Given the description of an element on the screen output the (x, y) to click on. 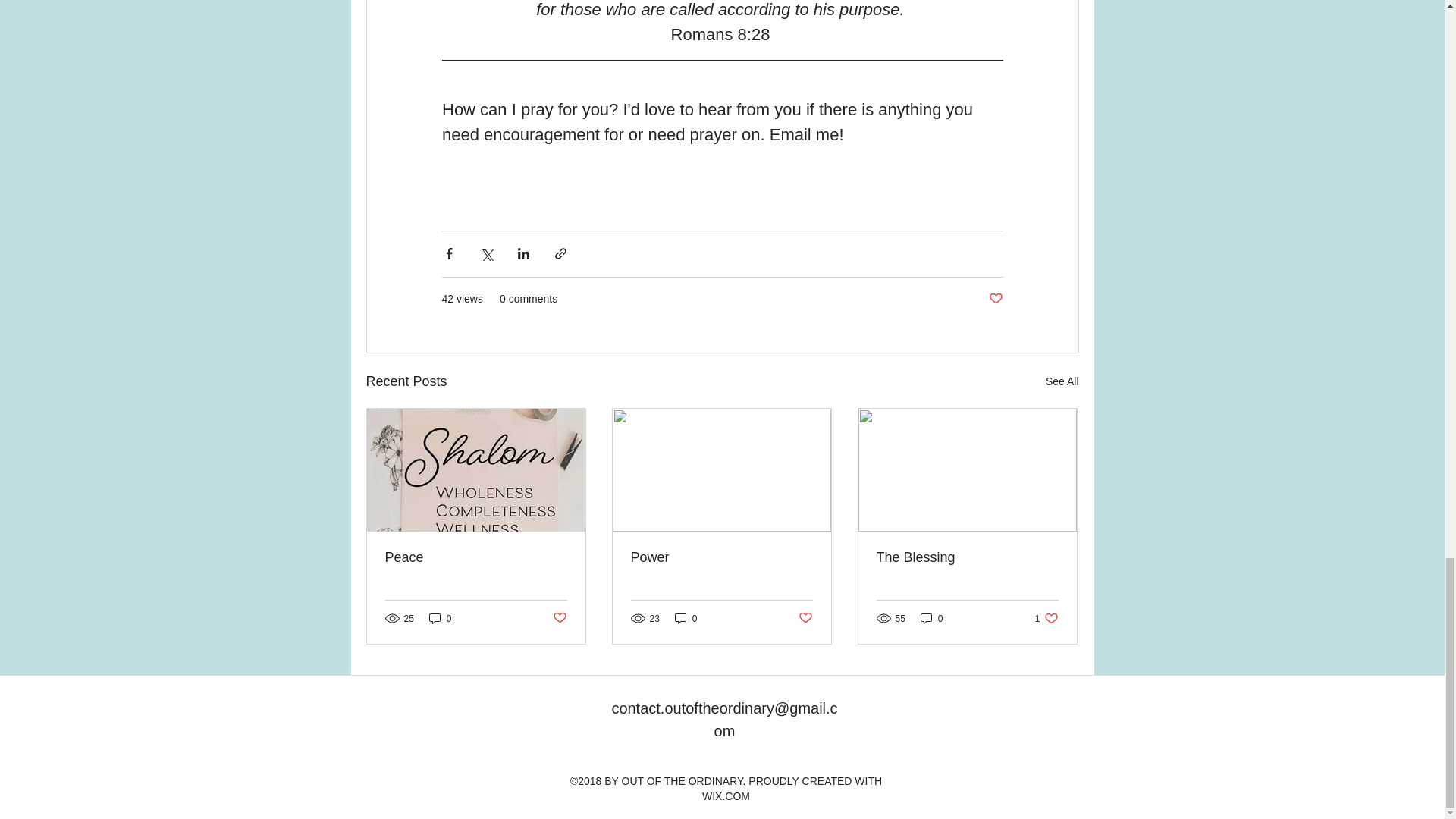
0 (931, 617)
0 (685, 617)
See All (1061, 382)
Post not marked as liked (558, 618)
The Blessing (967, 557)
Email me! (805, 134)
0 (440, 617)
Post not marked as liked (995, 299)
Power (721, 557)
Peace (476, 557)
